Given the description of an element on the screen output the (x, y) to click on. 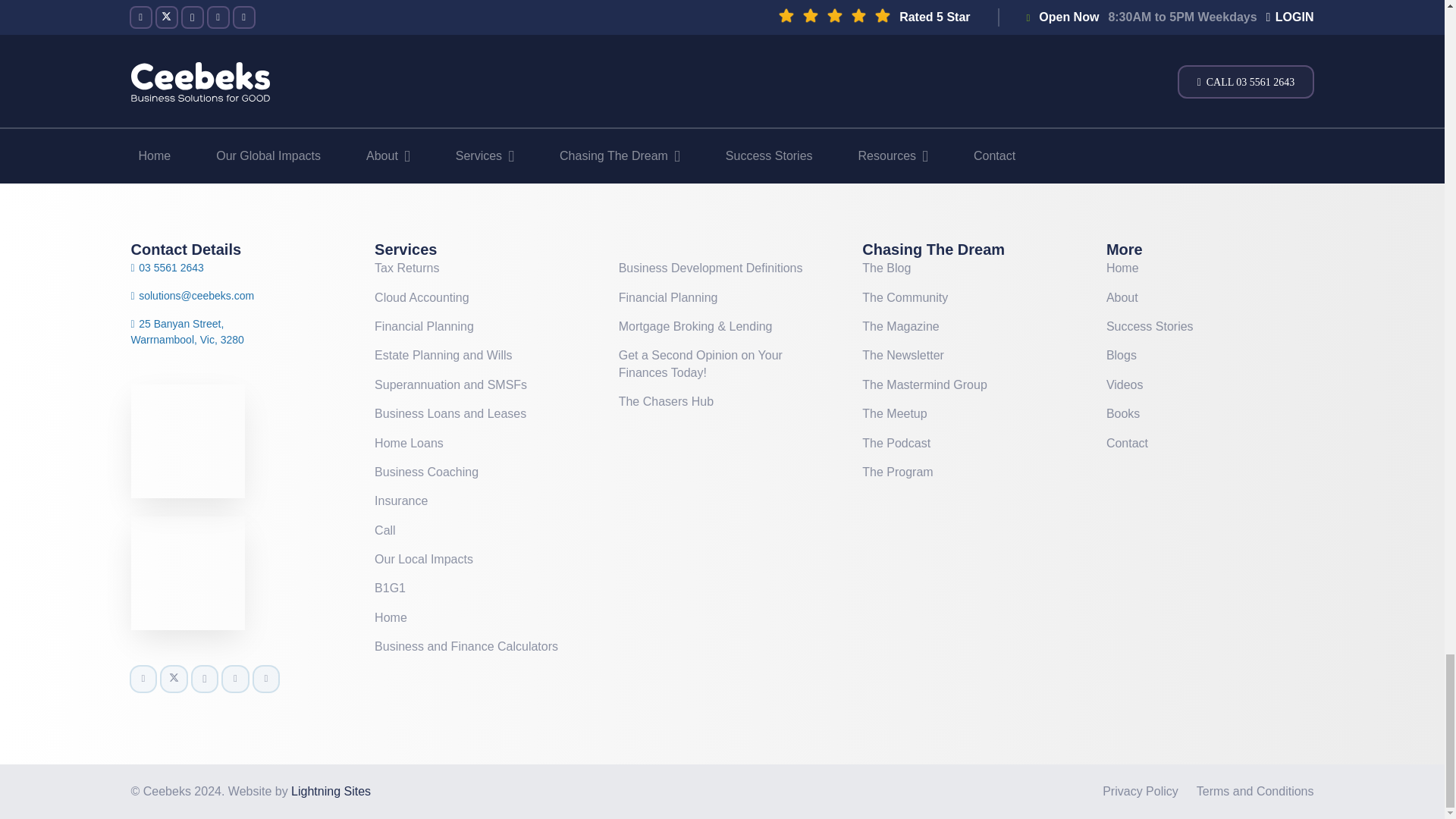
YouTube (234, 678)
Instagram (204, 678)
LinkedIn (265, 678)
Twitter (173, 678)
Facebook (143, 678)
